Given the description of an element on the screen output the (x, y) to click on. 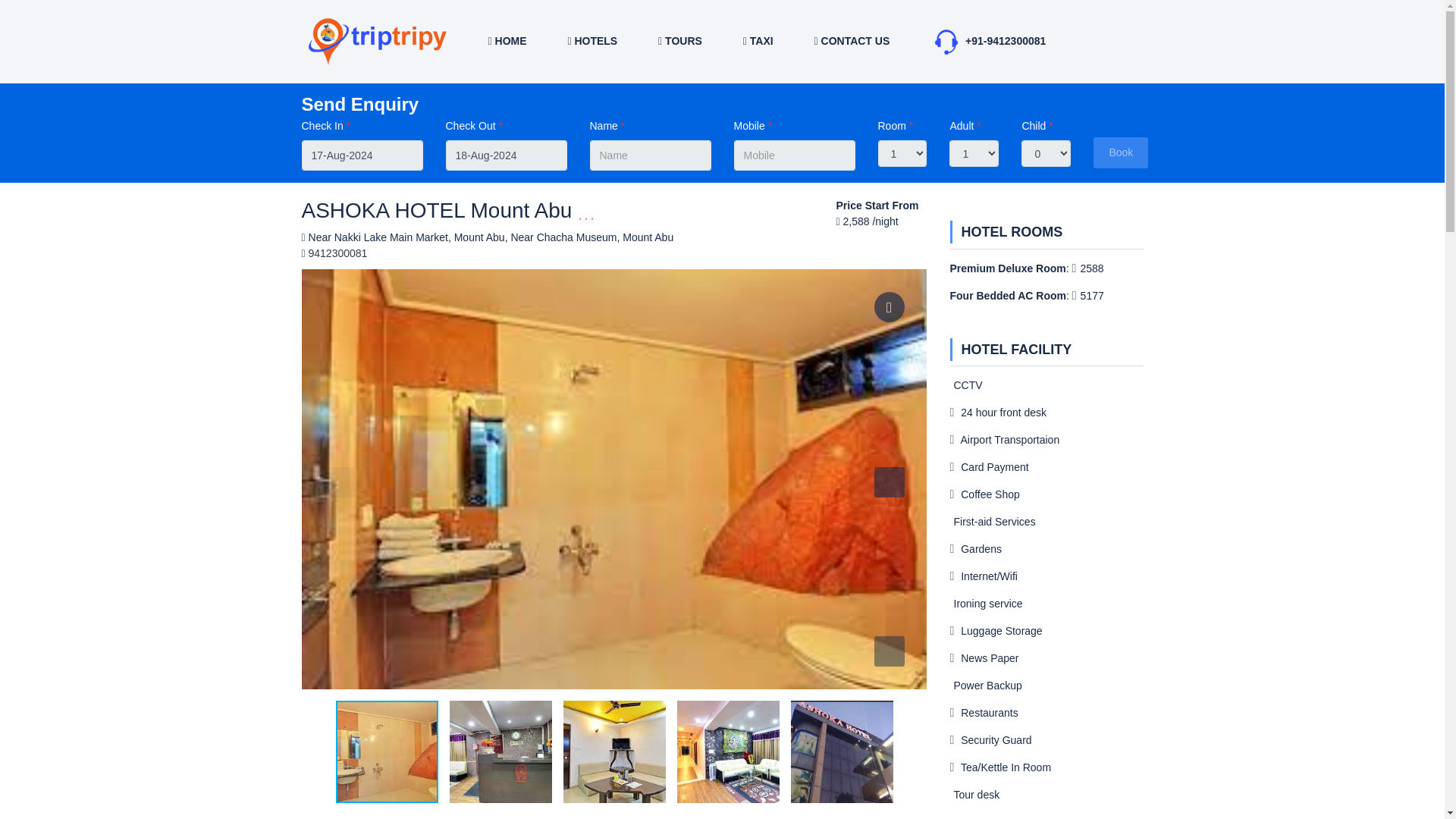
HOME (506, 41)
HOTELS (592, 41)
Contact Us (851, 41)
TAXI (757, 41)
Hotels in India (592, 41)
TOURS (679, 41)
Support (946, 41)
Book (1120, 152)
17-Aug-2024 (362, 155)
Tours in India (679, 41)
